Given the description of an element on the screen output the (x, y) to click on. 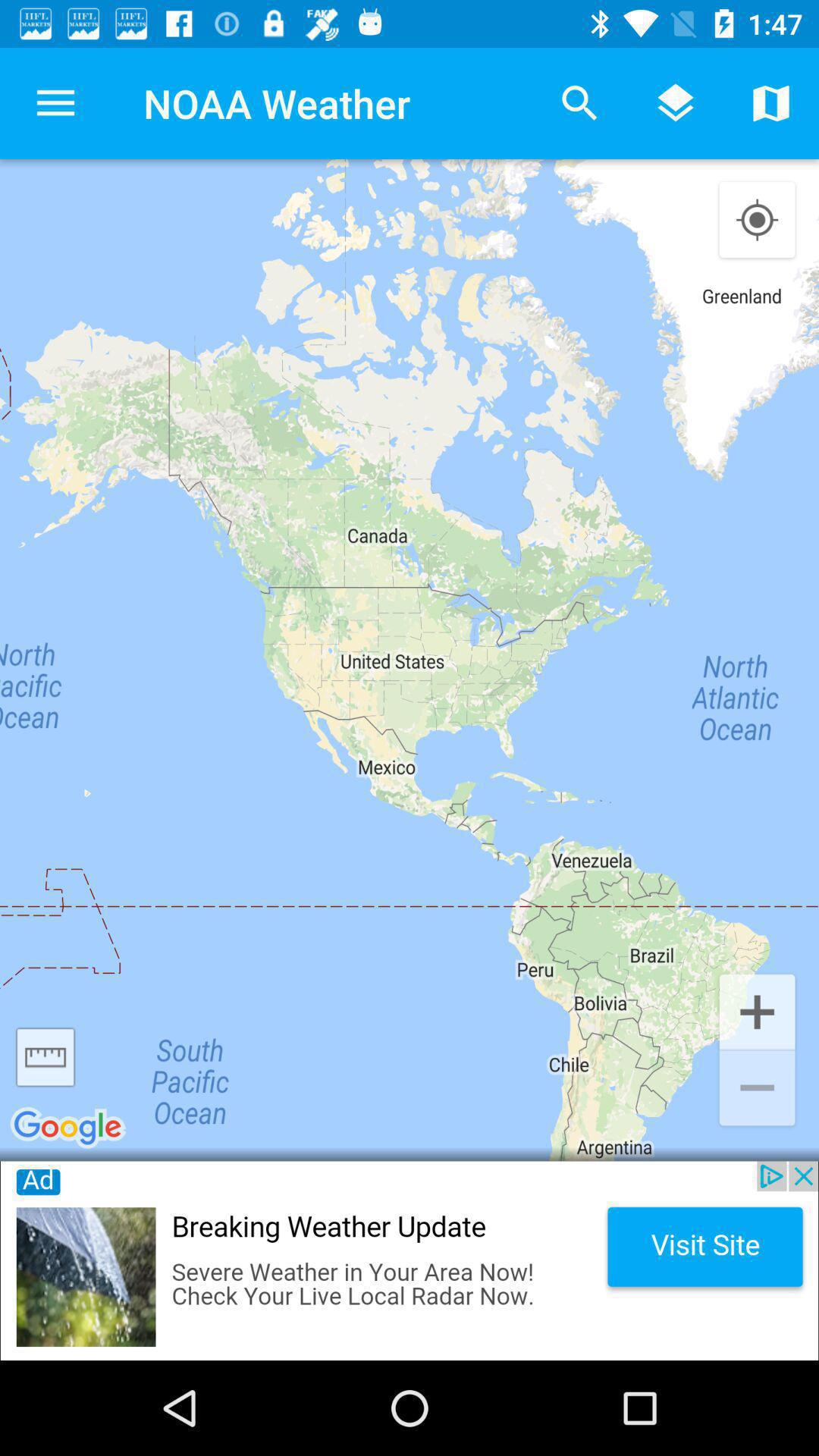
set scale range (45, 1057)
